Given the description of an element on the screen output the (x, y) to click on. 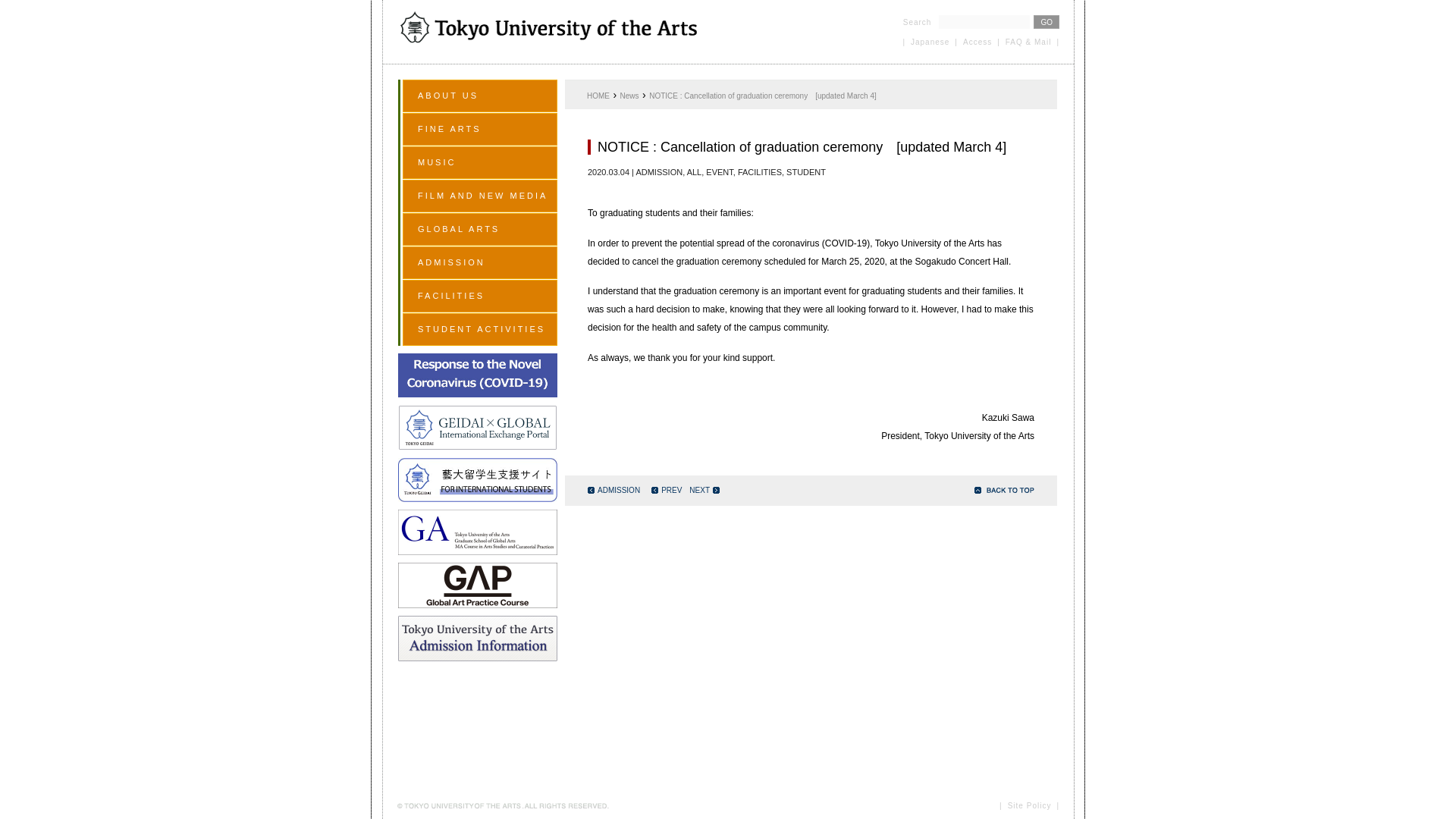
Access (976, 41)
MUSIC (480, 162)
Japanese (930, 41)
FINE ARTS (480, 129)
Tokyo University of the Arts (548, 29)
GO (1046, 21)
ABOUT US (480, 95)
